Given the description of an element on the screen output the (x, y) to click on. 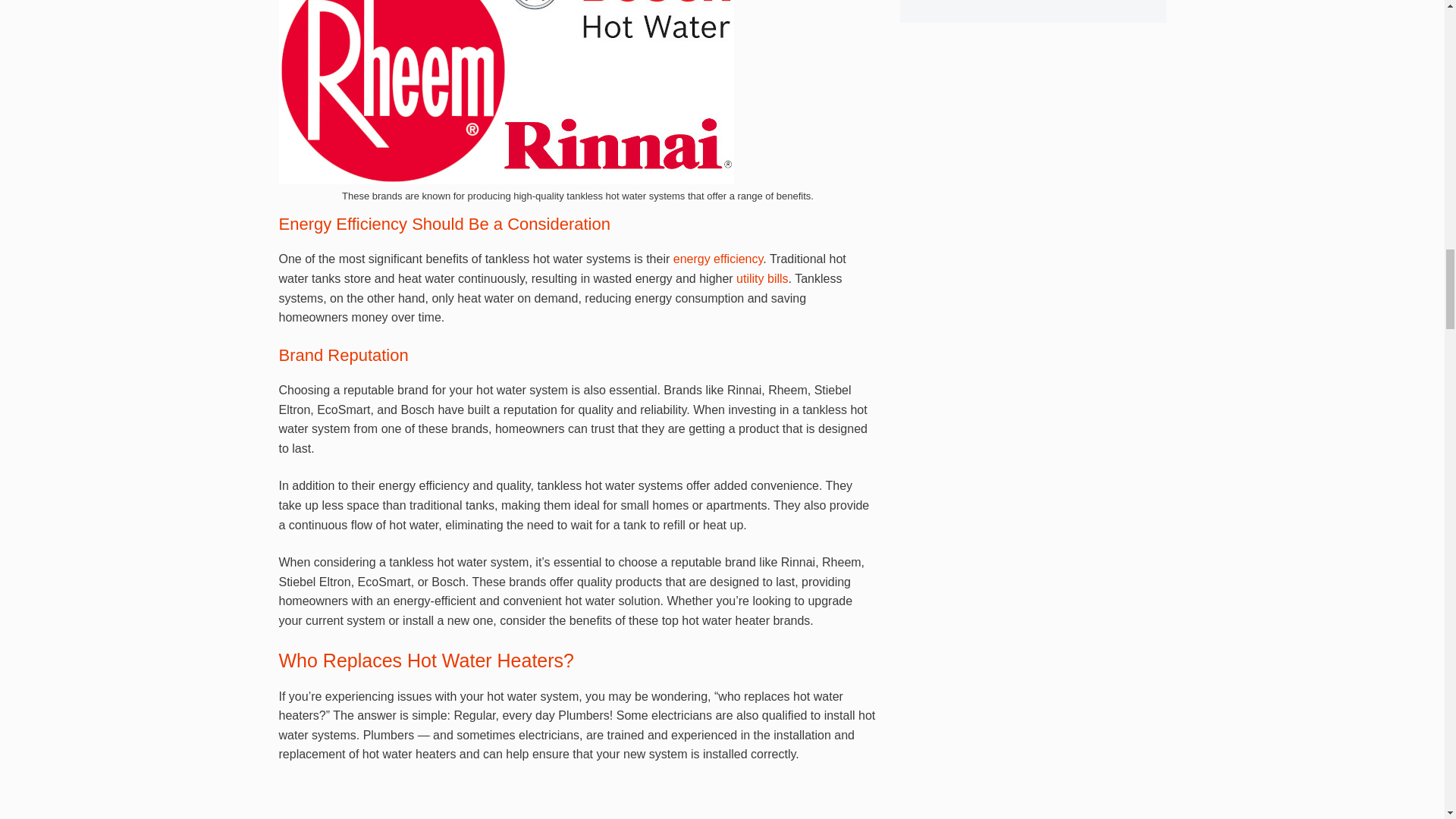
energy efficiency (717, 258)
utility bills (761, 278)
